Given the description of an element on the screen output the (x, y) to click on. 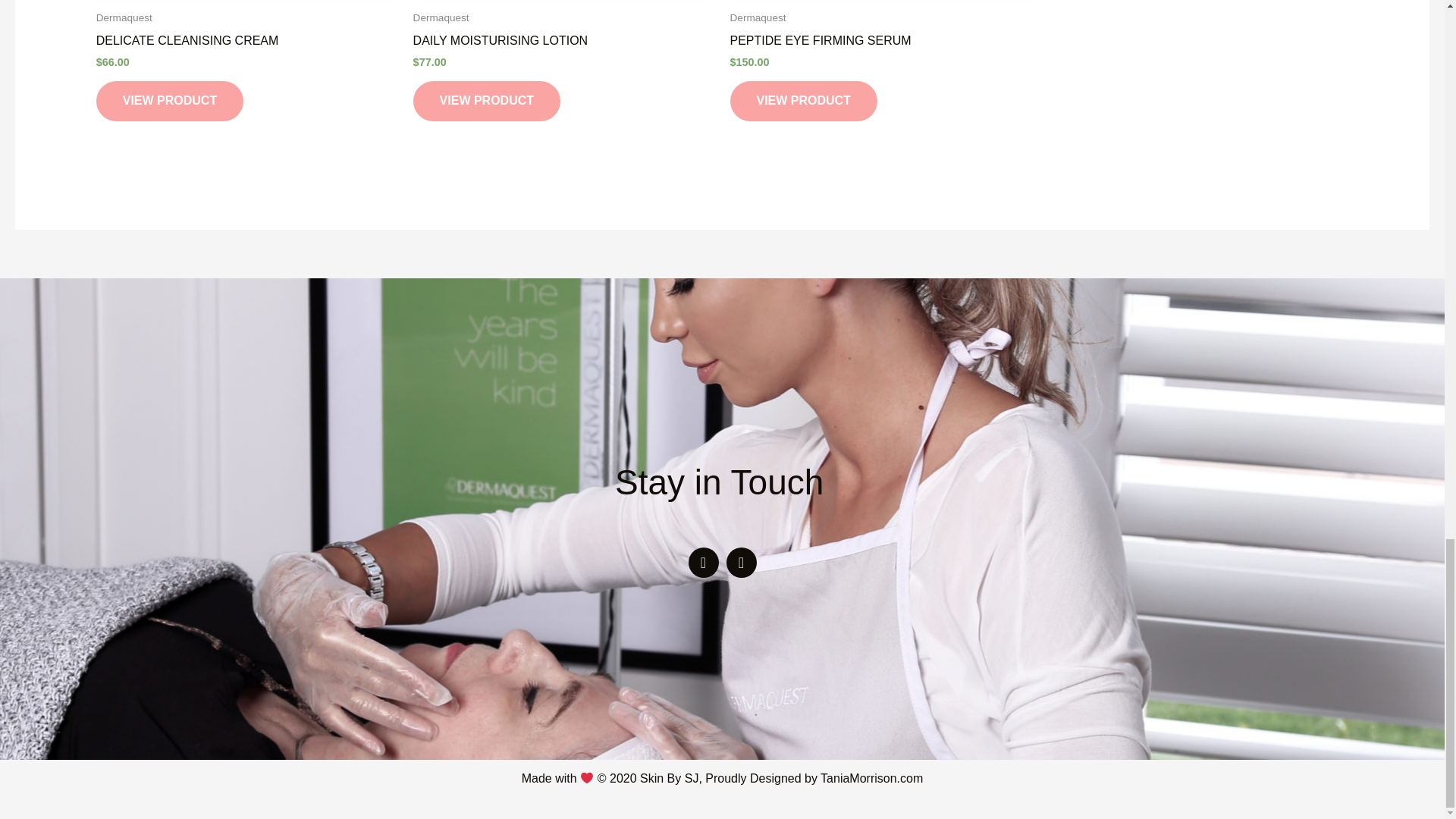
Instagram (741, 562)
VIEW PRODUCT (802, 101)
PEPTIDE EYE FIRMING SERUM (879, 44)
DAILY MOISTURISING LOTION (563, 44)
VIEW PRODUCT (169, 101)
DELICATE CLEANISING CREAM (246, 44)
VIEW PRODUCT (486, 101)
Facebook-f (703, 562)
